Given the description of an element on the screen output the (x, y) to click on. 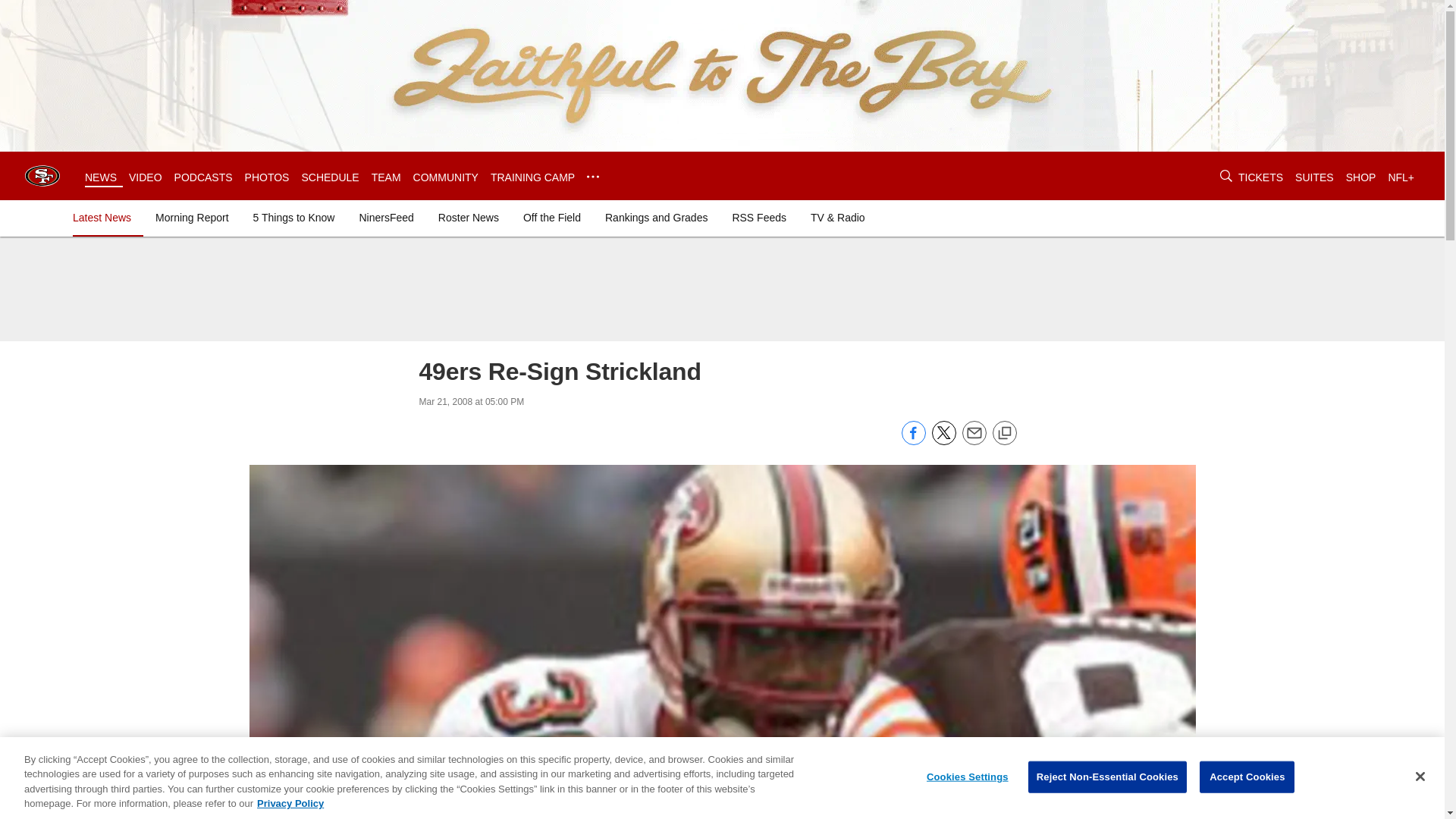
Latest News (104, 217)
TEAM (386, 177)
TEAM (386, 177)
SUITES (1314, 177)
NinersFeed (385, 217)
Off the Field (551, 217)
RSS Feeds (758, 217)
TRAINING CAMP (532, 177)
5 Things to Know (293, 217)
SCHEDULE (329, 177)
Link to club's homepage (42, 176)
Morning Report (191, 217)
PHOTOS (266, 177)
Roster News (468, 217)
VIDEO (145, 177)
